Given the description of an element on the screen output the (x, y) to click on. 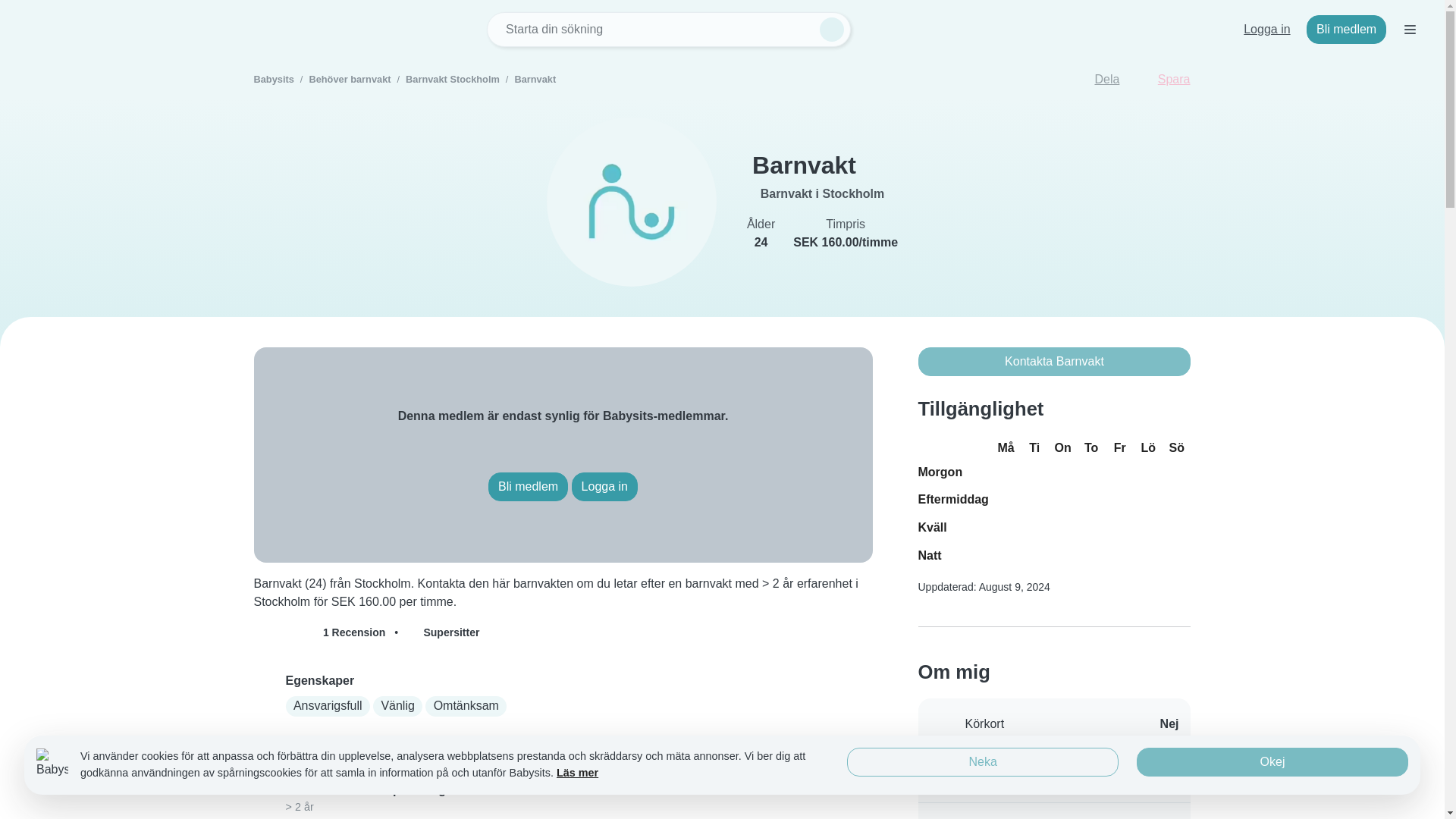
Barnvakt (534, 78)
Logga in (604, 486)
1 Recension (320, 632)
Bli medlem (1346, 29)
Supersitter (443, 632)
Bli medlem (527, 486)
Barnvakt i Stockholm (822, 193)
Logga in (1266, 29)
Dela (1097, 79)
Babysits (273, 78)
